Given the description of an element on the screen output the (x, y) to click on. 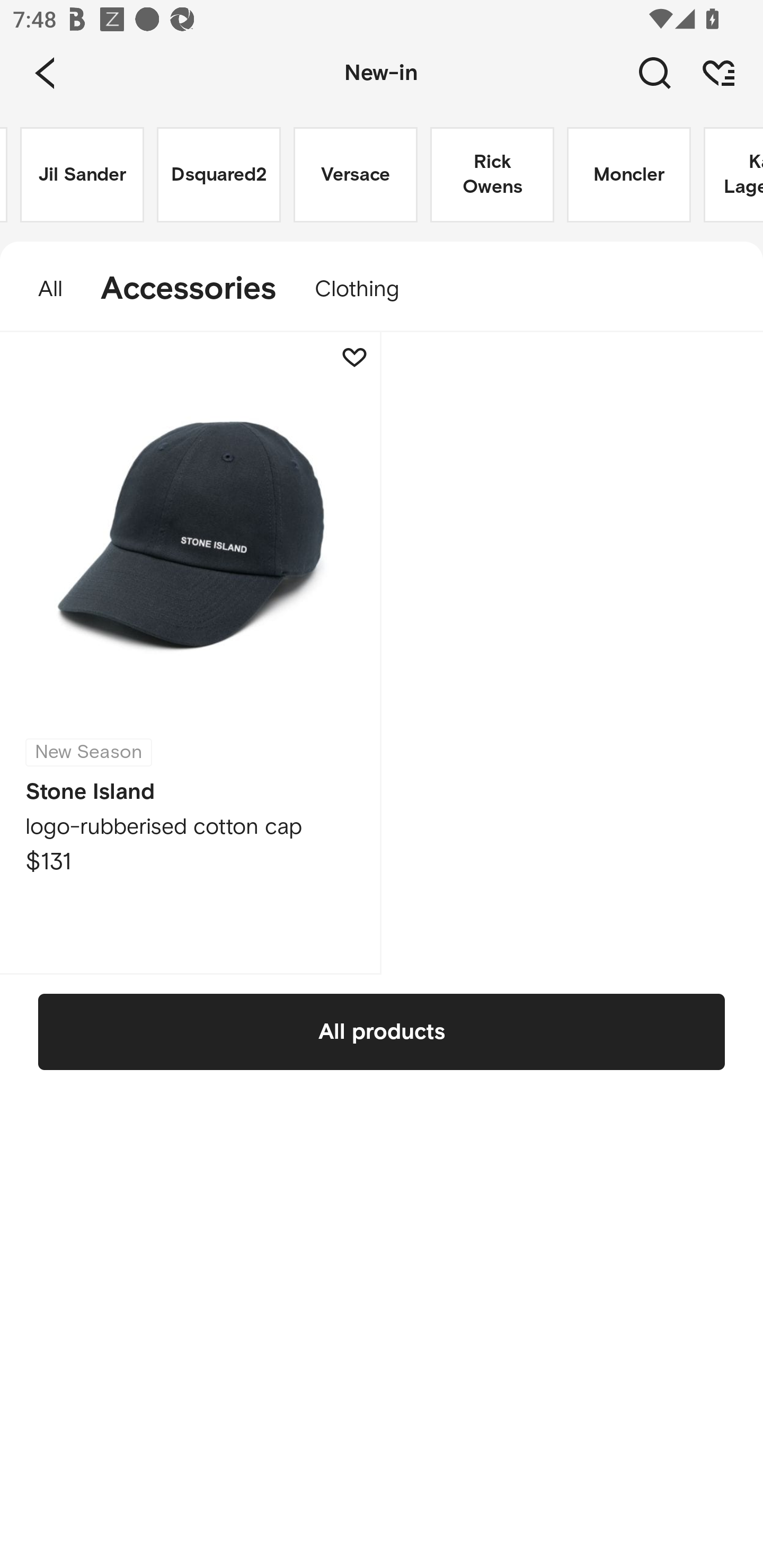
Jil Sander (81, 174)
Dsquared2 (218, 174)
Versace (355, 174)
Rick Owens (491, 174)
Moncler (628, 174)
All (40, 288)
Accessories (188, 288)
Clothing (366, 288)
All products (381, 1031)
